Given the description of an element on the screen output the (x, y) to click on. 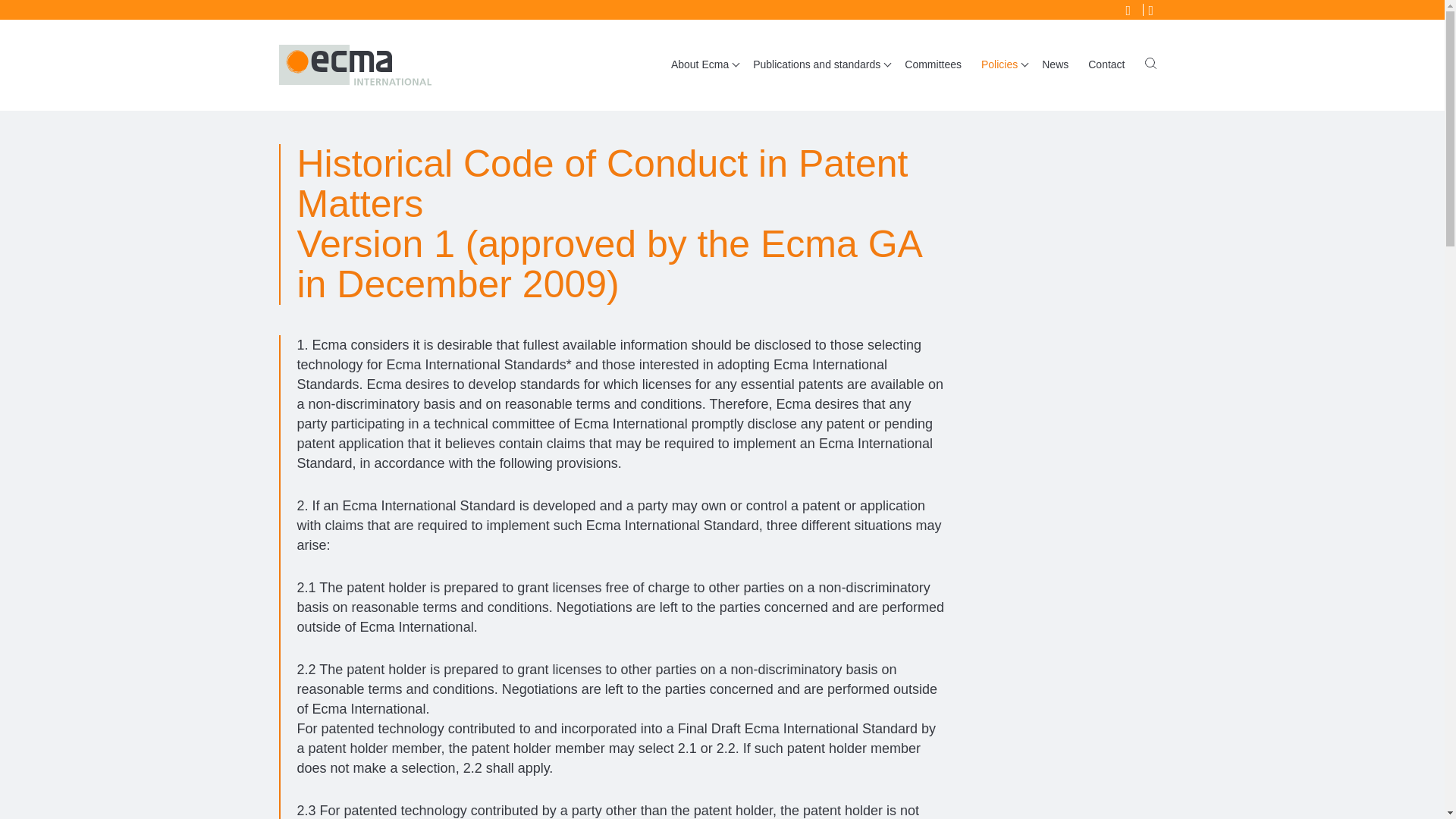
LinkedIn (1152, 9)
Publications and standards (818, 64)
X (1130, 9)
About Ecma (701, 64)
